Given the description of an element on the screen output the (x, y) to click on. 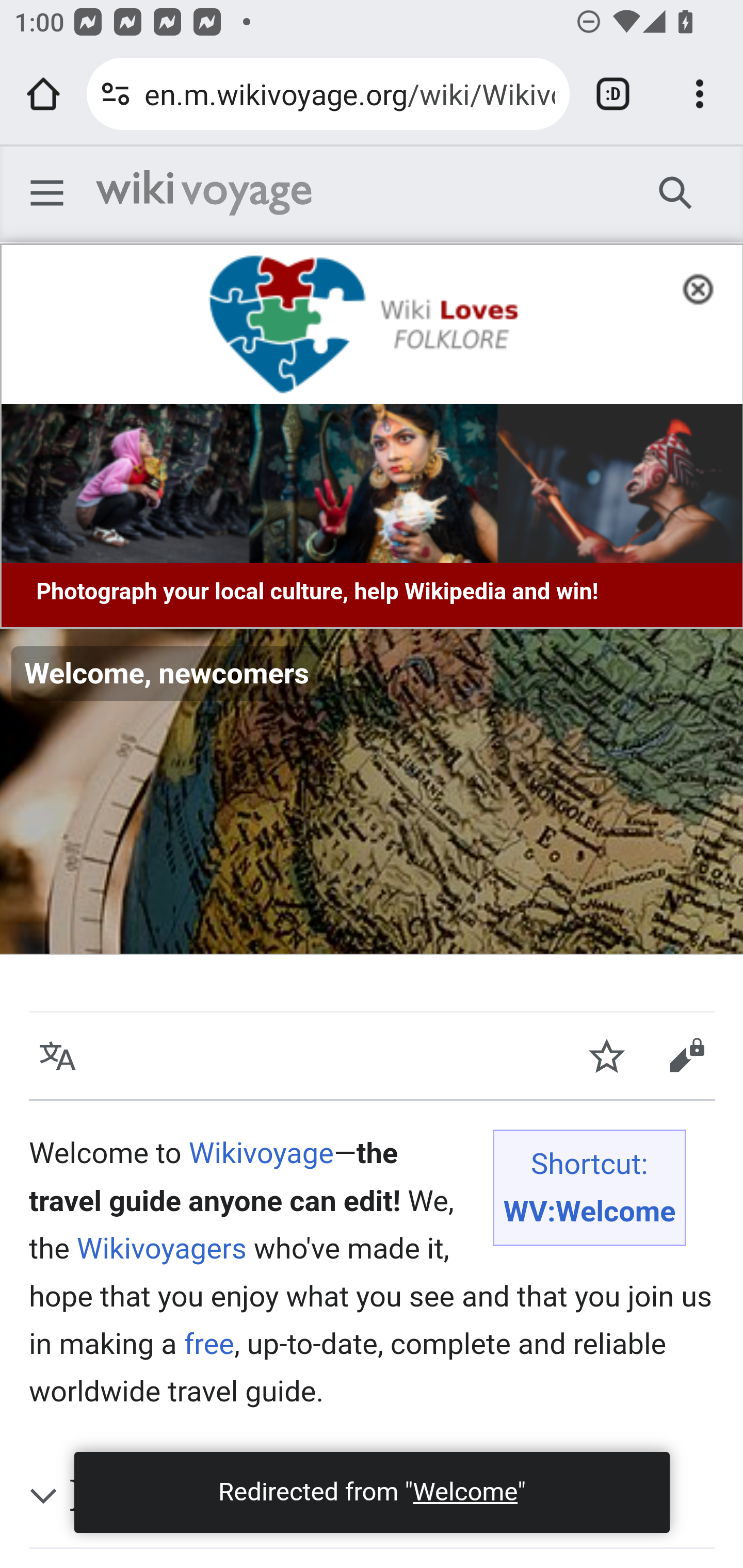
Open the home page (43, 93)
Connection is secure (115, 93)
Switch or close tabs (612, 93)
Customize and control Google Chrome (699, 93)
Search (676, 192)
Wikivoyage (203, 192)
Hide (703, 286)
Welcome, newcomers 1280px-My_Wikivoyage_Banner_03 (371, 791)
Language (57, 1055)
Watch (606, 1055)
View source (686, 1055)
Wikivoyage (260, 1153)
Shortcut: (589, 1164)
WV:Welcome (589, 1211)
Wikivoyagers (161, 1248)
free (208, 1343)
Finding travel information (392, 1496)
Welcome (464, 1491)
